Given the description of an element on the screen output the (x, y) to click on. 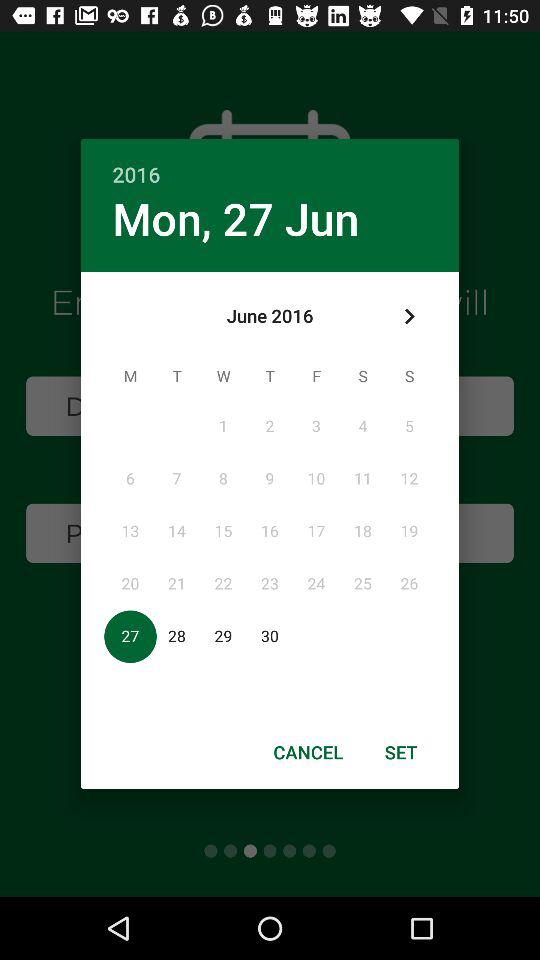
turn on the icon to the right of the cancel item (401, 751)
